Given the description of an element on the screen output the (x, y) to click on. 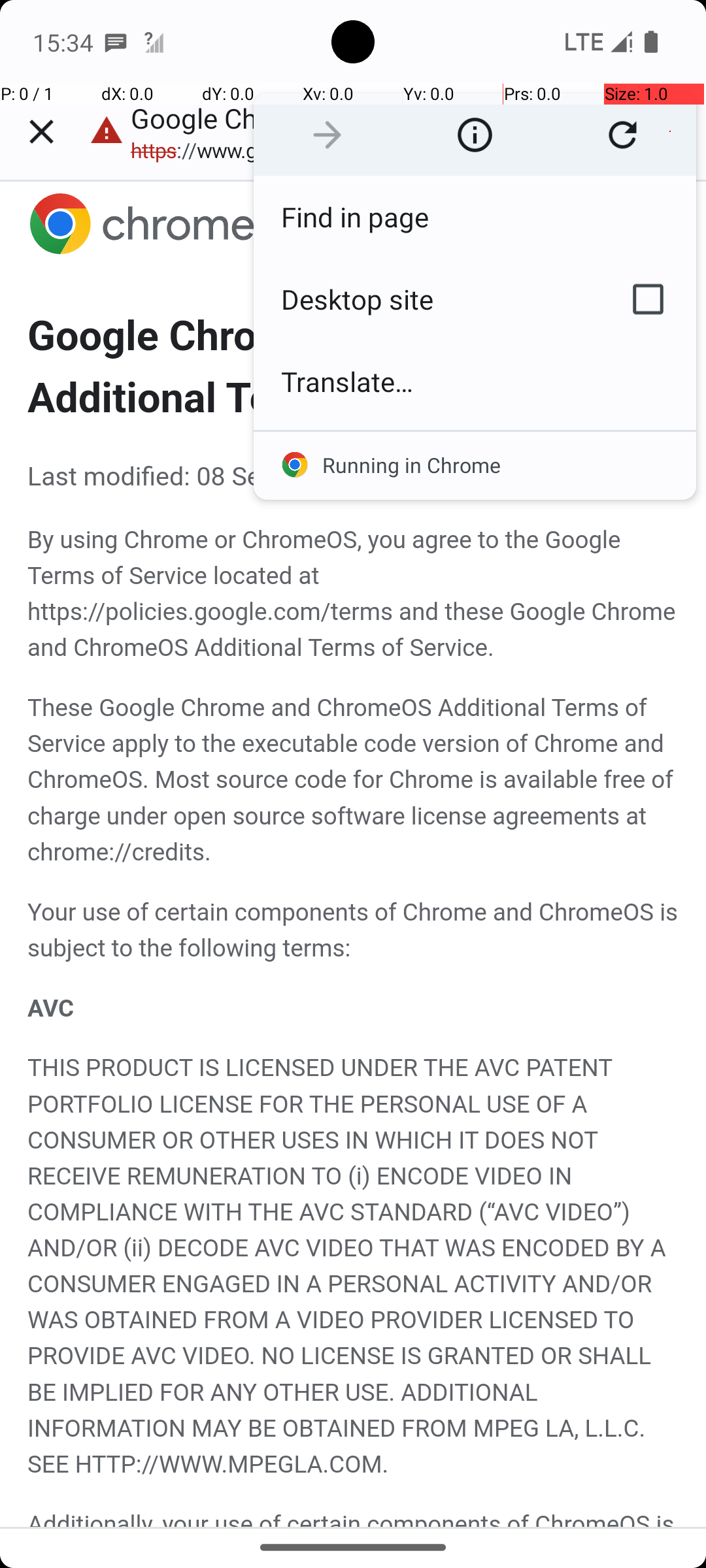
Running in Chrome Element type: android.widget.TextView (474, 464)
Go forward Element type: android.widget.ImageButton (326, 134)
View site information Element type: android.widget.ImageButton (474, 134)
Refresh Element type: android.widget.ImageButton (622, 134)
Find in page Element type: android.widget.TextView (474, 216)
Desktop site Element type: android.widget.TextView (426, 299)
Translate… Element type: android.widget.TextView (474, 381)
Android System notification: Sign in to network Element type: android.widget.ImageView (153, 41)
